Given the description of an element on the screen output the (x, y) to click on. 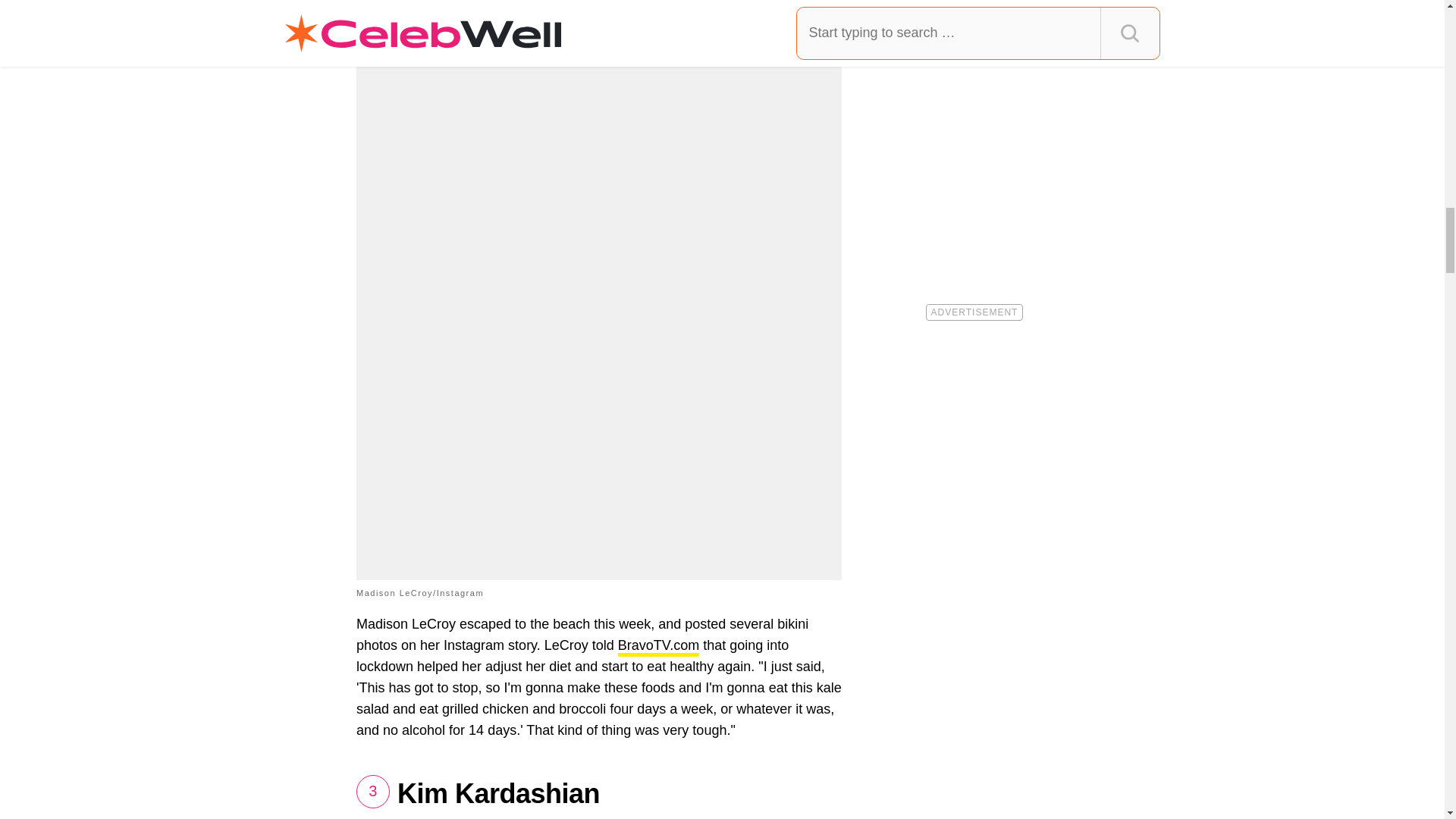
BravoTV.com (657, 647)
